Given the description of an element on the screen output the (x, y) to click on. 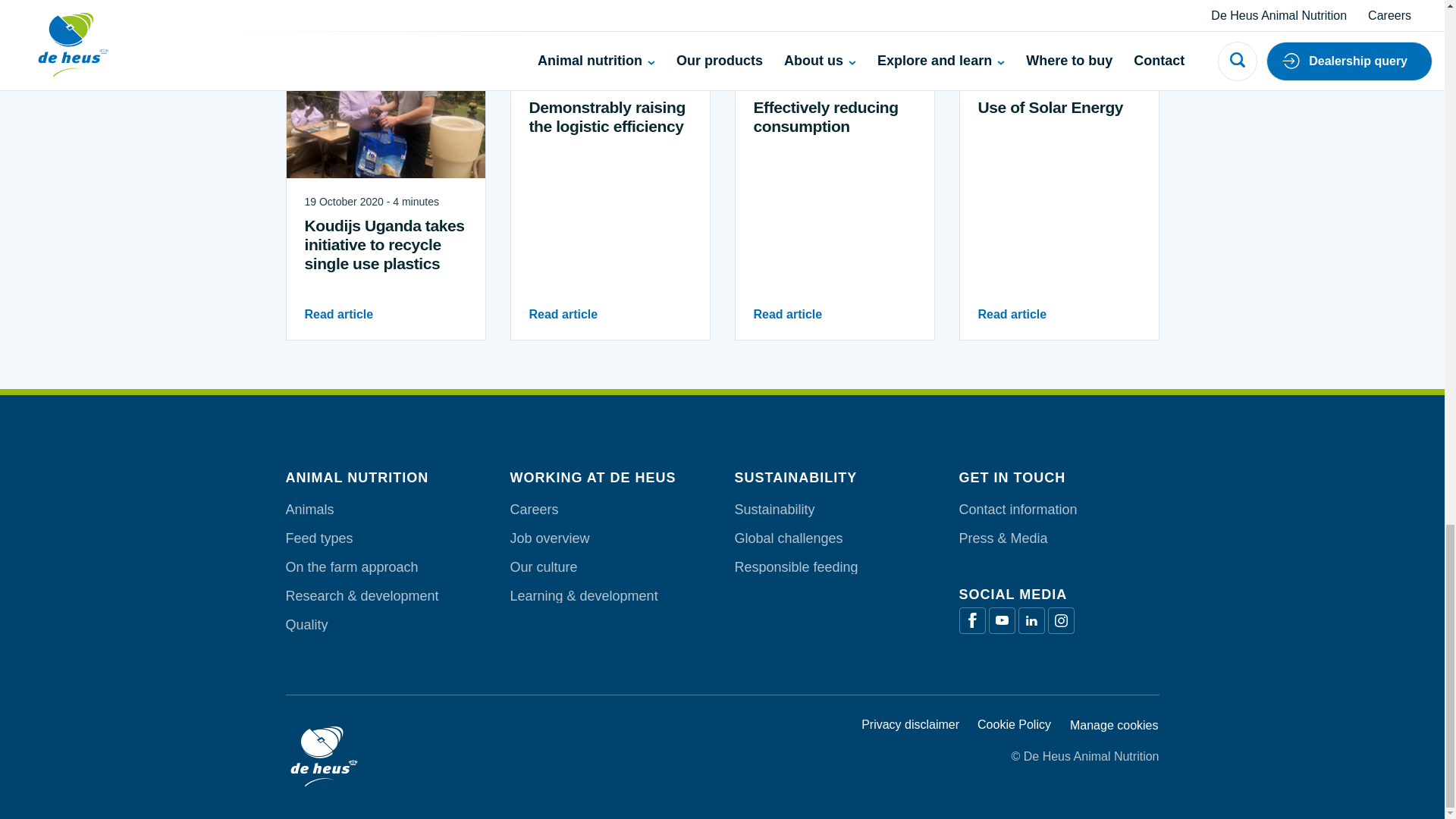
Demonstrably raising the logistic efficiency (610, 116)
Use of Solar Energy (1059, 107)
Effectively reducing consumption (834, 116)
